Given the description of an element on the screen output the (x, y) to click on. 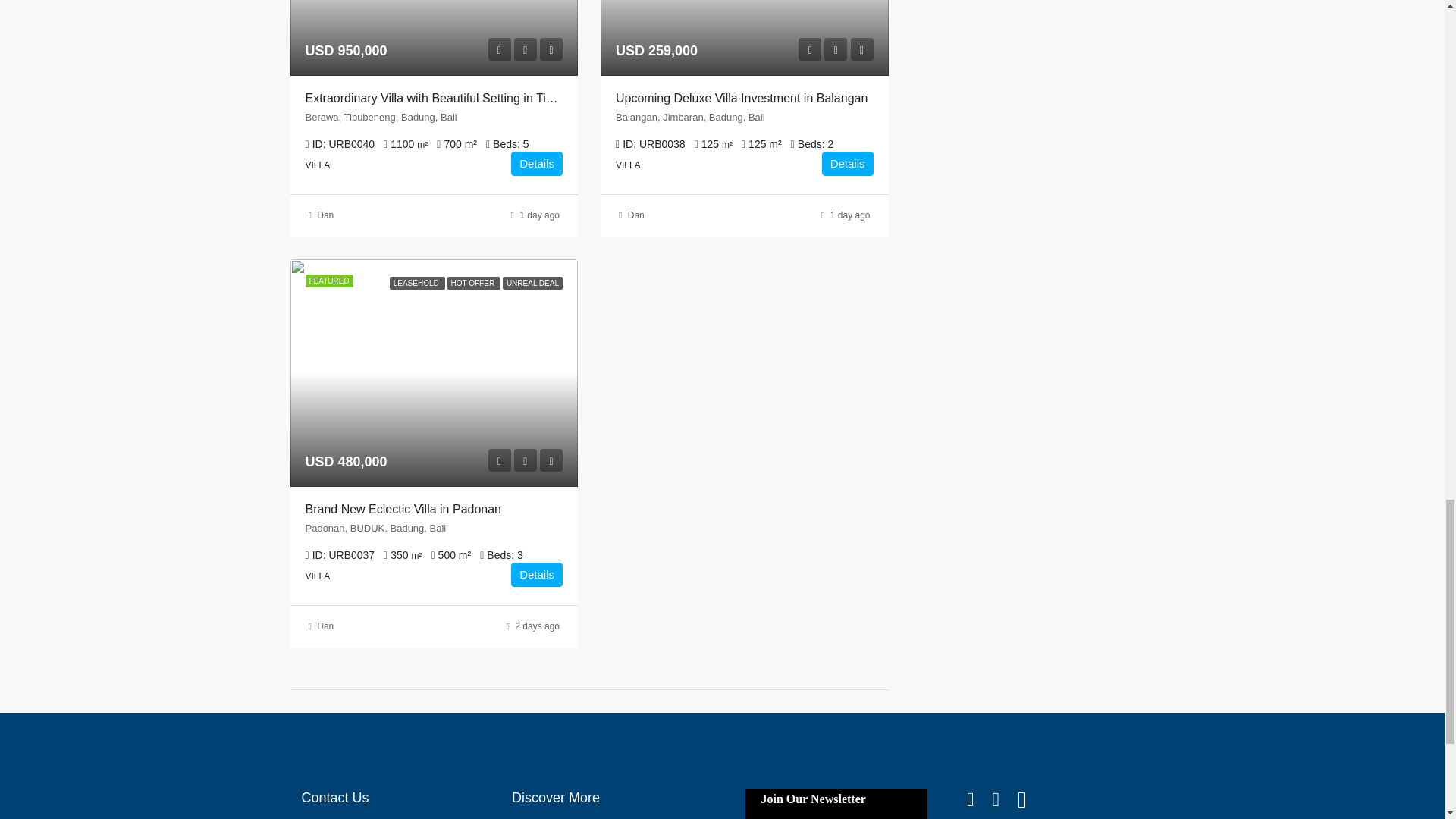
Preview (809, 48)
Favourite (525, 459)
Favourite (525, 48)
Add to Compare (861, 48)
Preview (499, 48)
Favourite (835, 48)
Follow us on Facebook (979, 799)
Add to Compare (551, 459)
Preview (499, 459)
Add to Compare (551, 48)
